Given the description of an element on the screen output the (x, y) to click on. 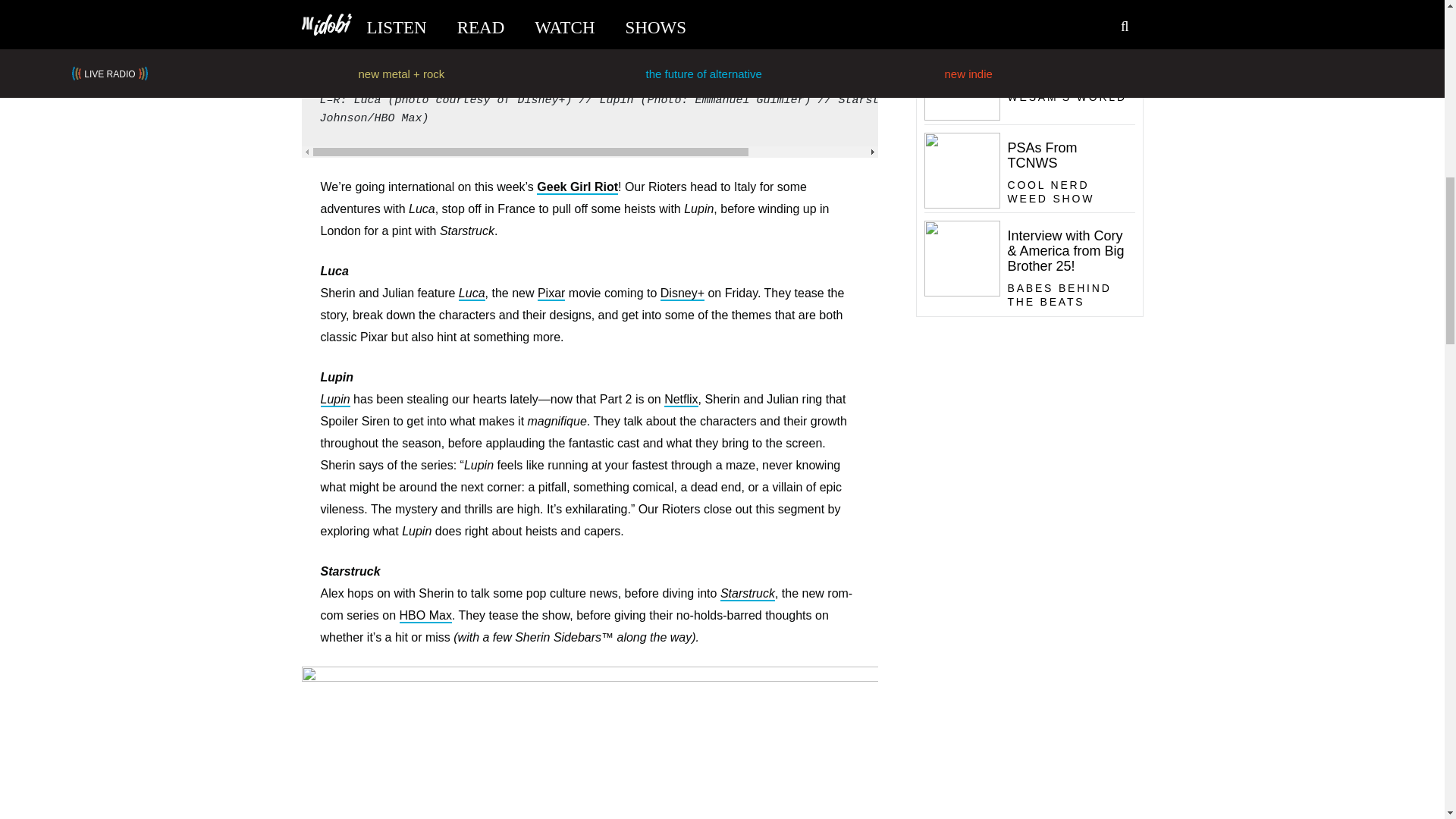
Netflix (680, 400)
HBO Max (424, 616)
Starstruck (747, 594)
Lupin (334, 400)
Geek Girl Riot (577, 187)
Pixar (550, 293)
Luca (471, 293)
